Given the description of an element on the screen output the (x, y) to click on. 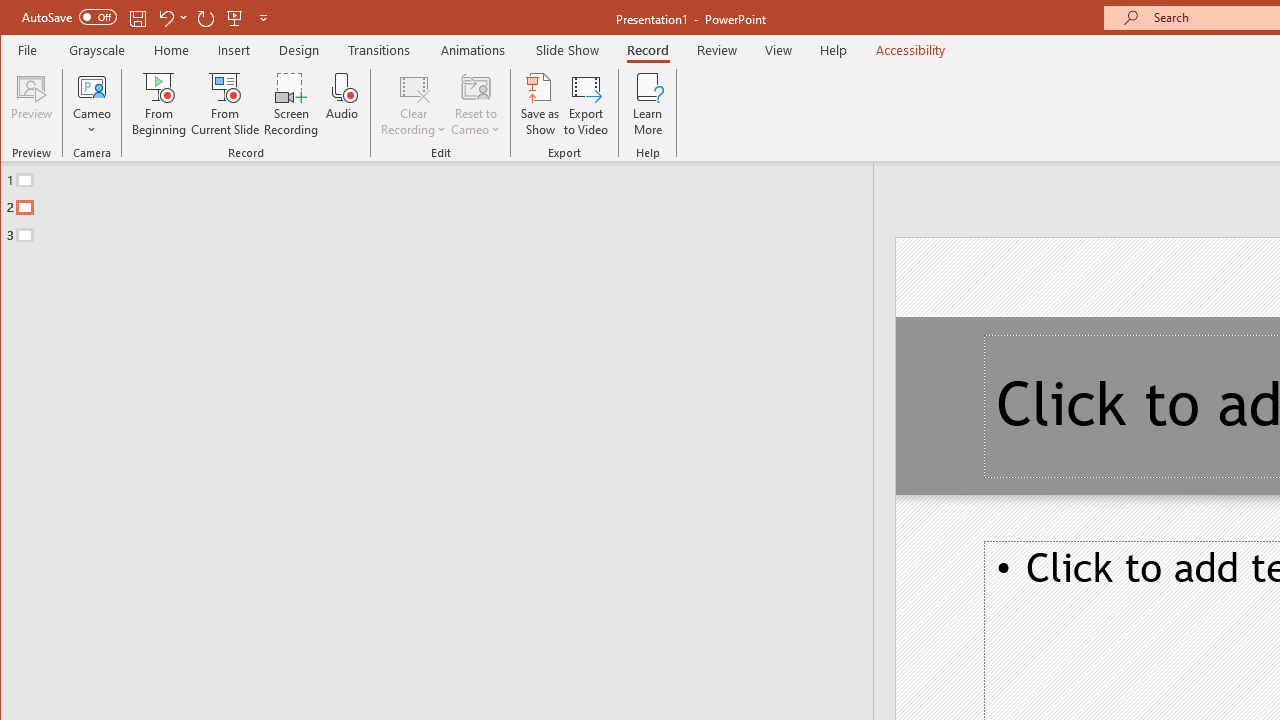
Outline (445, 203)
From Beginning... (159, 104)
Save as Show (539, 104)
Clear Recording (413, 104)
Learn More (648, 104)
Reset to Cameo (476, 104)
Export to Video (585, 104)
